Given the description of an element on the screen output the (x, y) to click on. 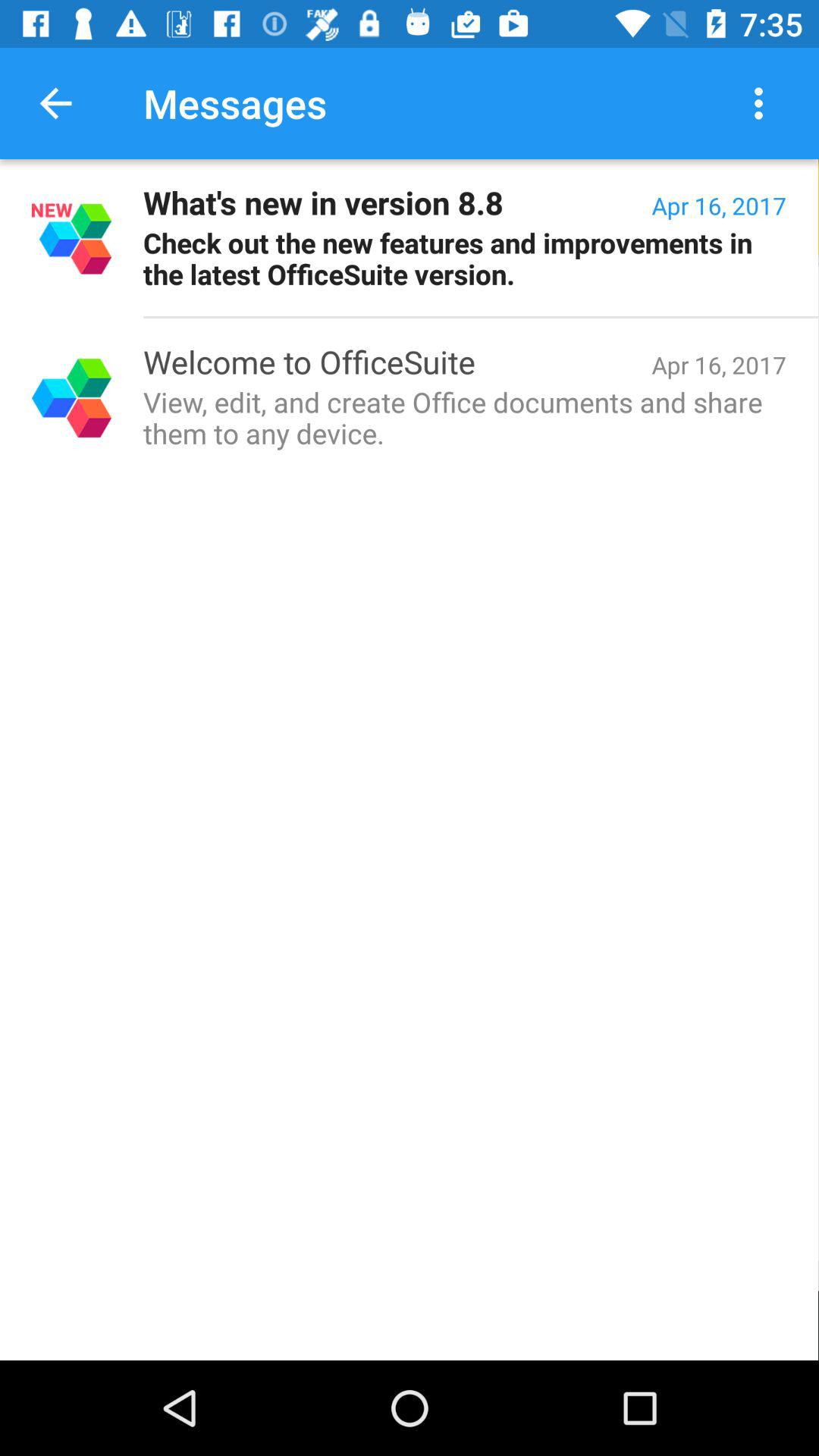
launch app next to messages app (55, 103)
